Given the description of an element on the screen output the (x, y) to click on. 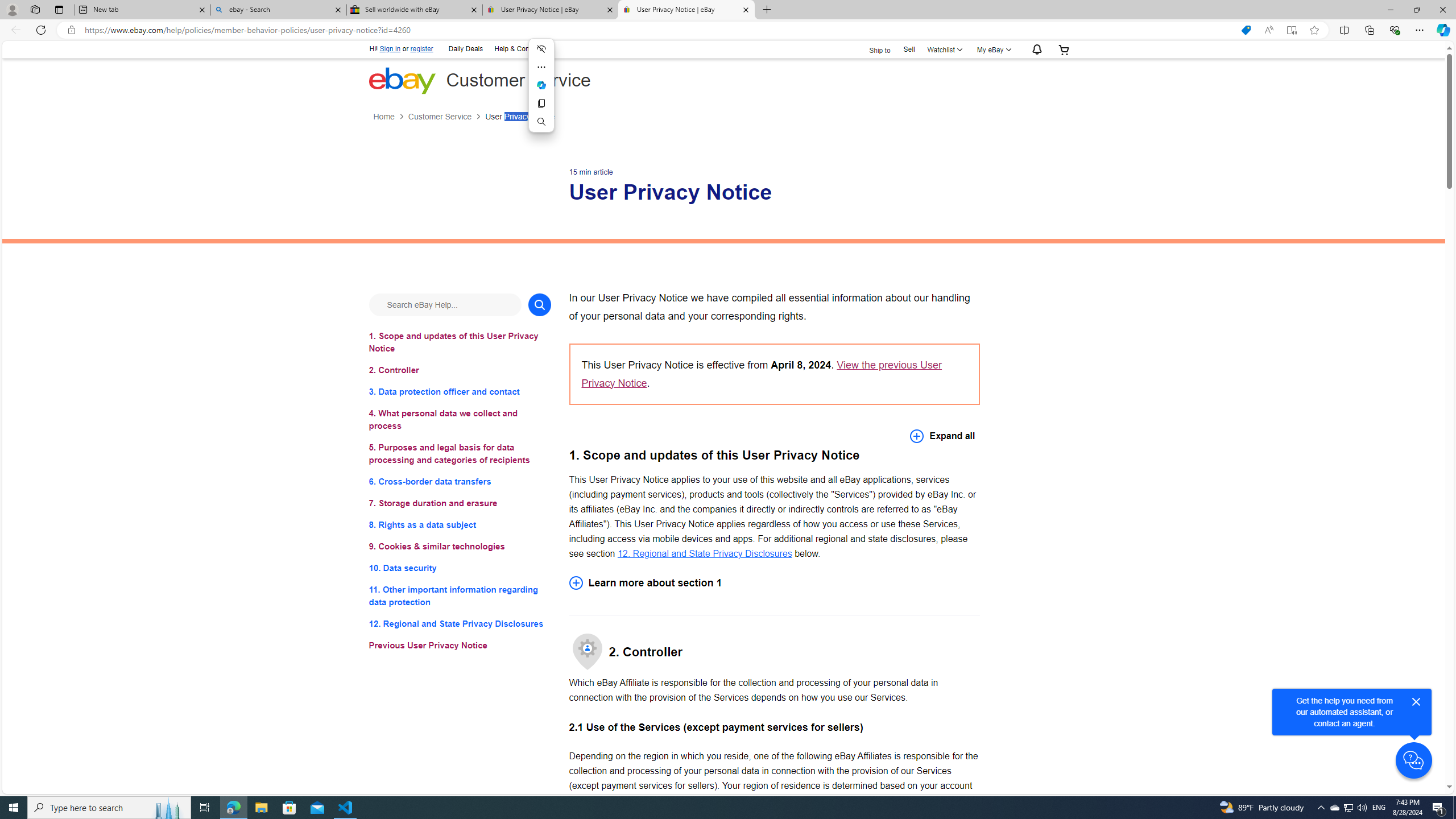
Ask Copilot (540, 85)
Sell (909, 49)
ebay - Search (277, 9)
Mini menu on text selection (540, 84)
Daily Deals (465, 49)
4. What personal data we collect and process (459, 419)
4. What personal data we collect and process (459, 419)
6. Cross-border data transfers (459, 481)
Expand all (942, 435)
Previous User Privacy Notice (459, 645)
Ship to (872, 50)
